Given the description of an element on the screen output the (x, y) to click on. 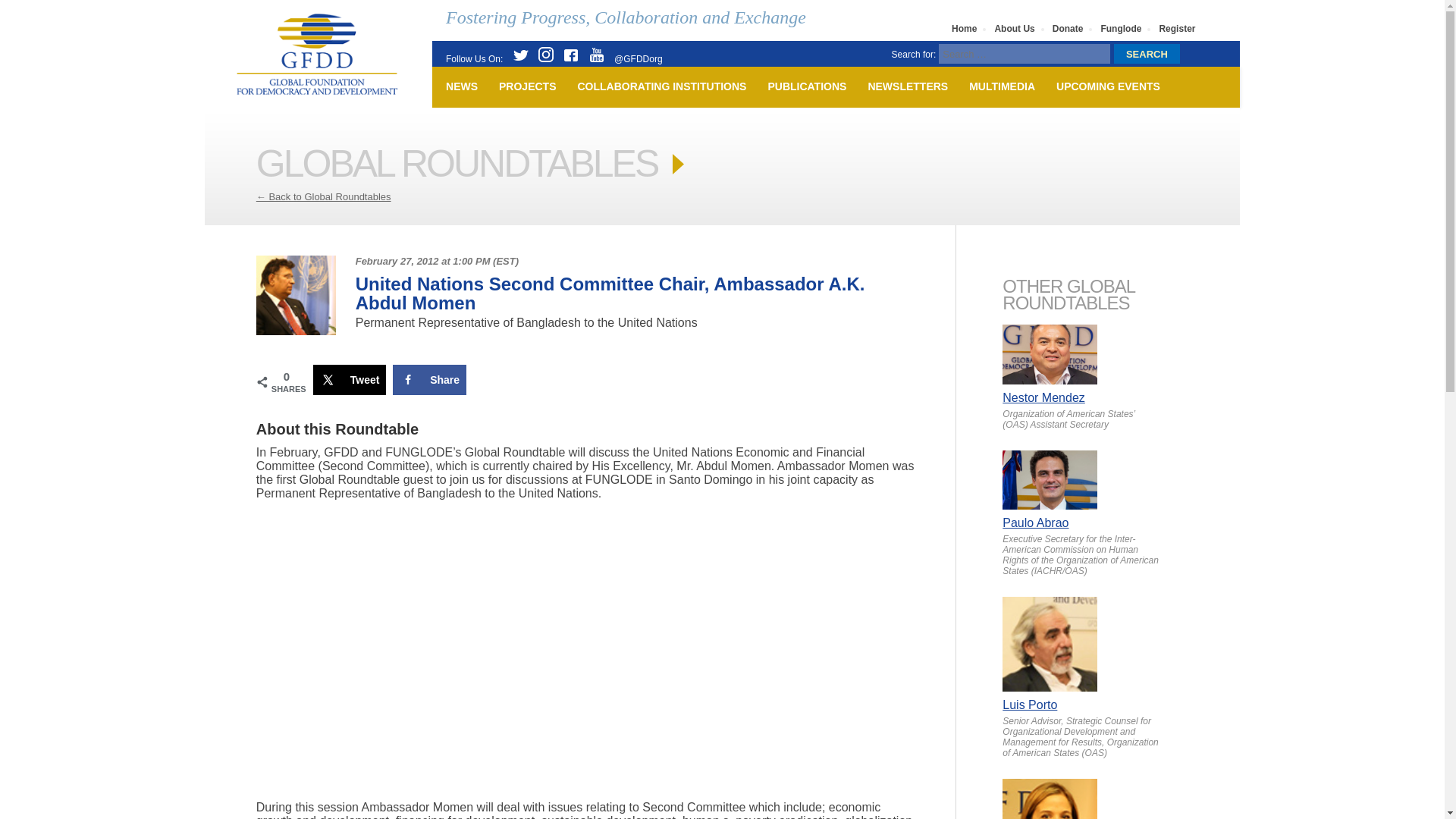
Share on X (350, 379)
Share on Facebook (429, 379)
COLLABORATING INSTITUTIONS (658, 86)
Funglode (1121, 28)
Search (1146, 53)
Home (964, 28)
About Us (1014, 28)
Donate (1068, 28)
Search (1146, 53)
Share (429, 379)
Tweet (350, 379)
Register (1177, 28)
NEWS (458, 86)
NEWSLETTERS (904, 86)
PROJECTS (523, 86)
